Given the description of an element on the screen output the (x, y) to click on. 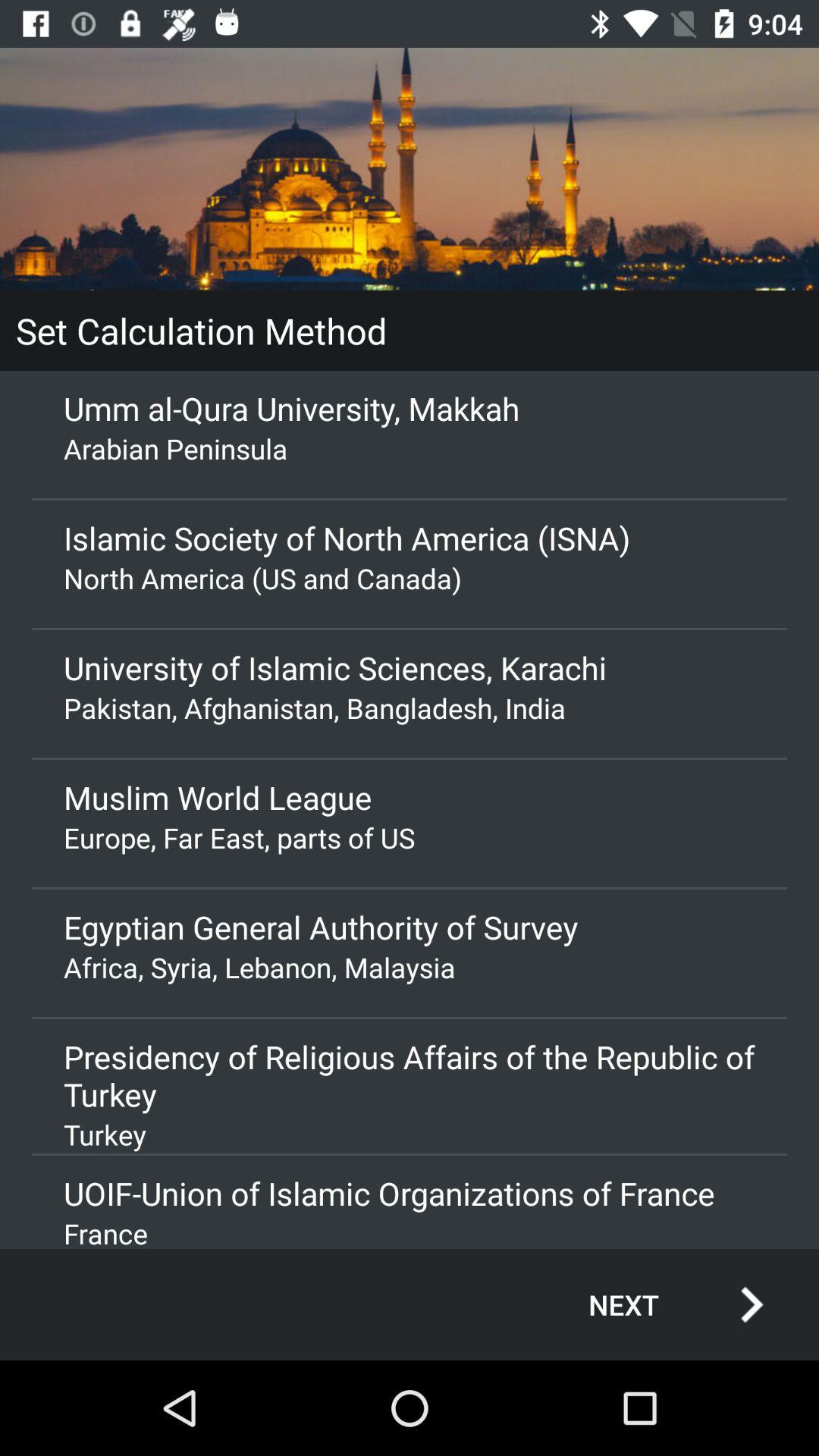
click on the next button (659, 1304)
